Given the description of an element on the screen output the (x, y) to click on. 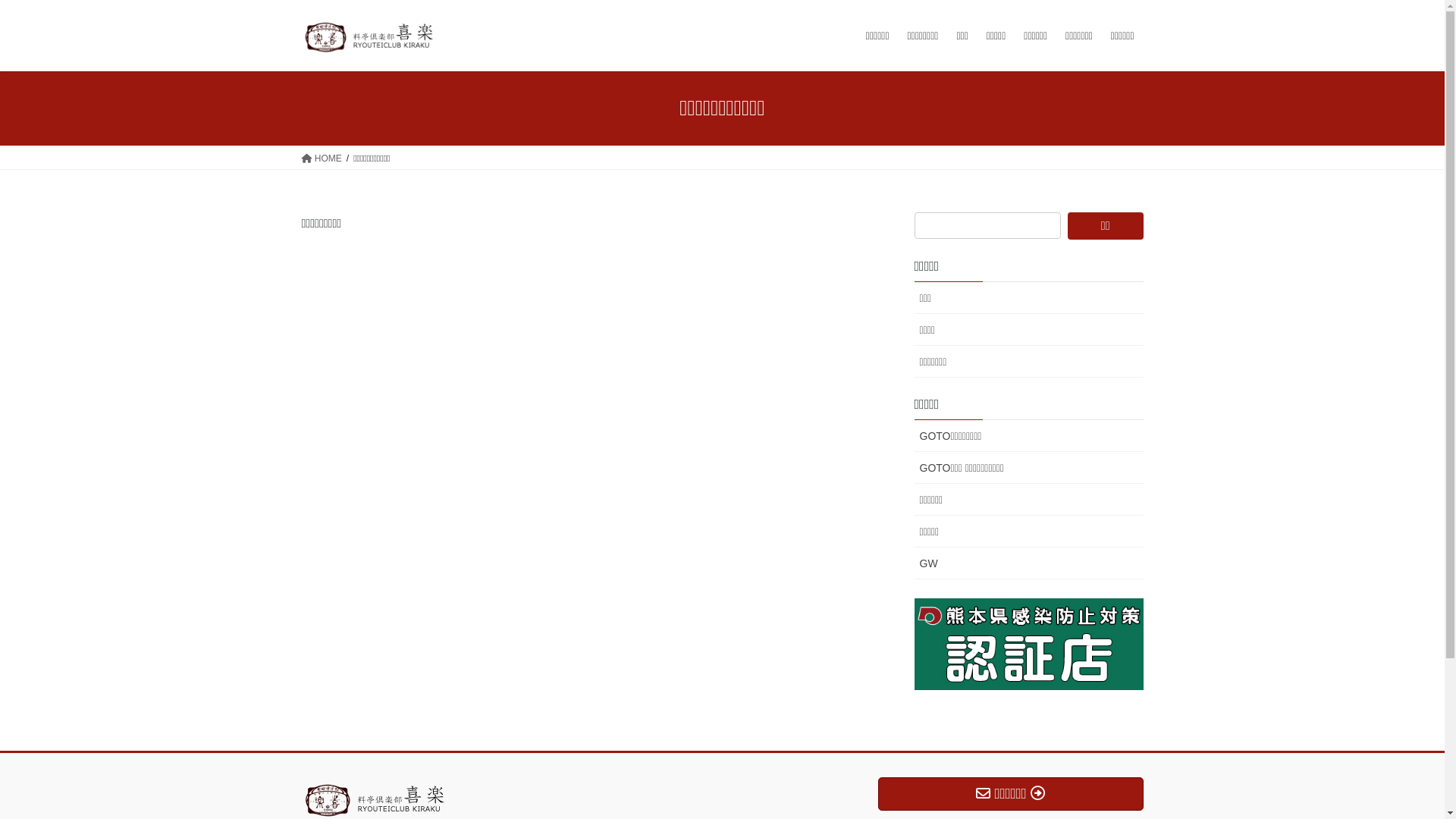
GW Element type: text (1028, 563)
HOME Element type: text (321, 157)
